Given the description of an element on the screen output the (x, y) to click on. 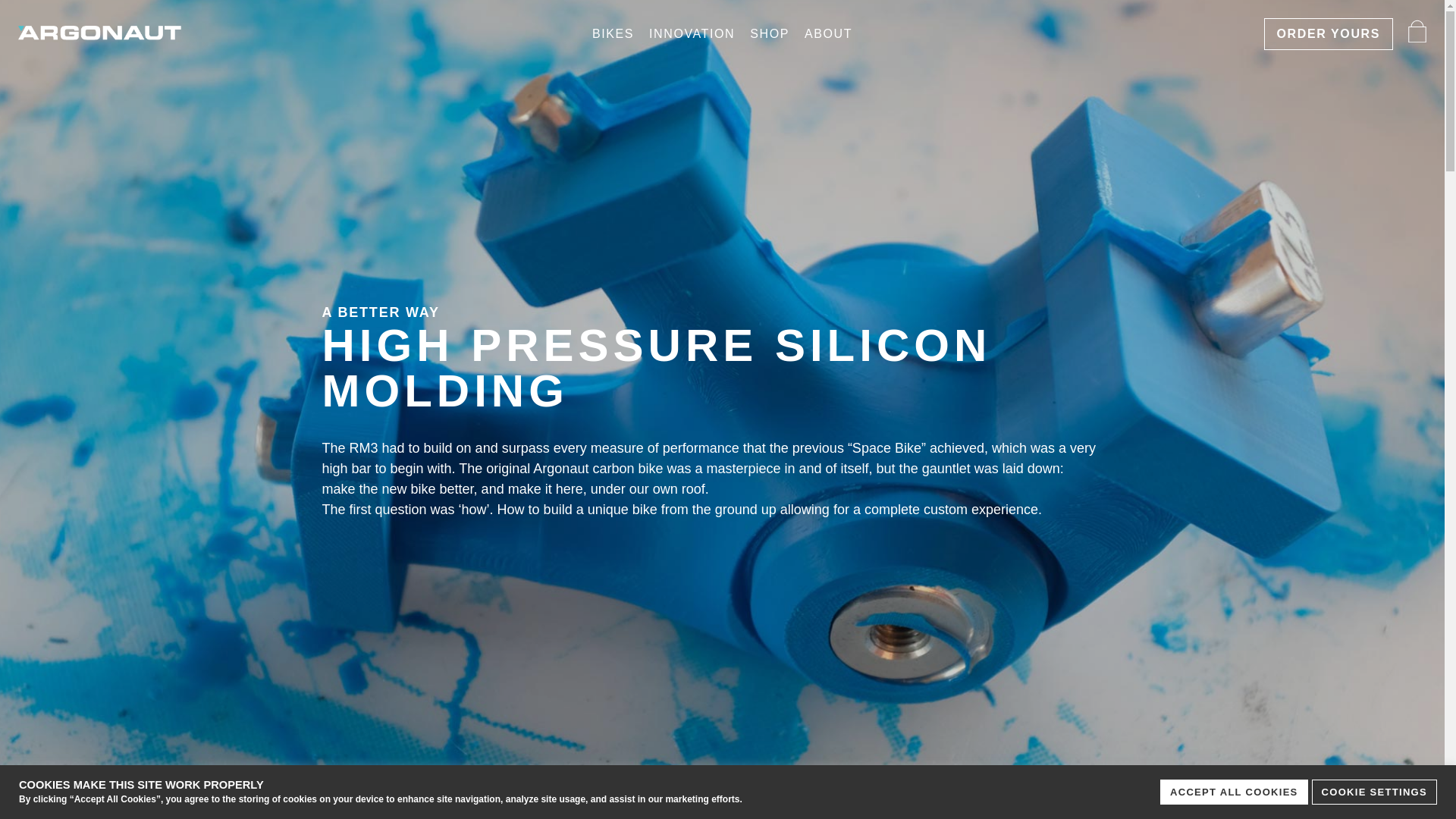
BIKES (613, 33)
SHOP (769, 33)
ORDER YOURS (1328, 33)
ABOUT (828, 33)
INNOVATION (692, 33)
